Given the description of an element on the screen output the (x, y) to click on. 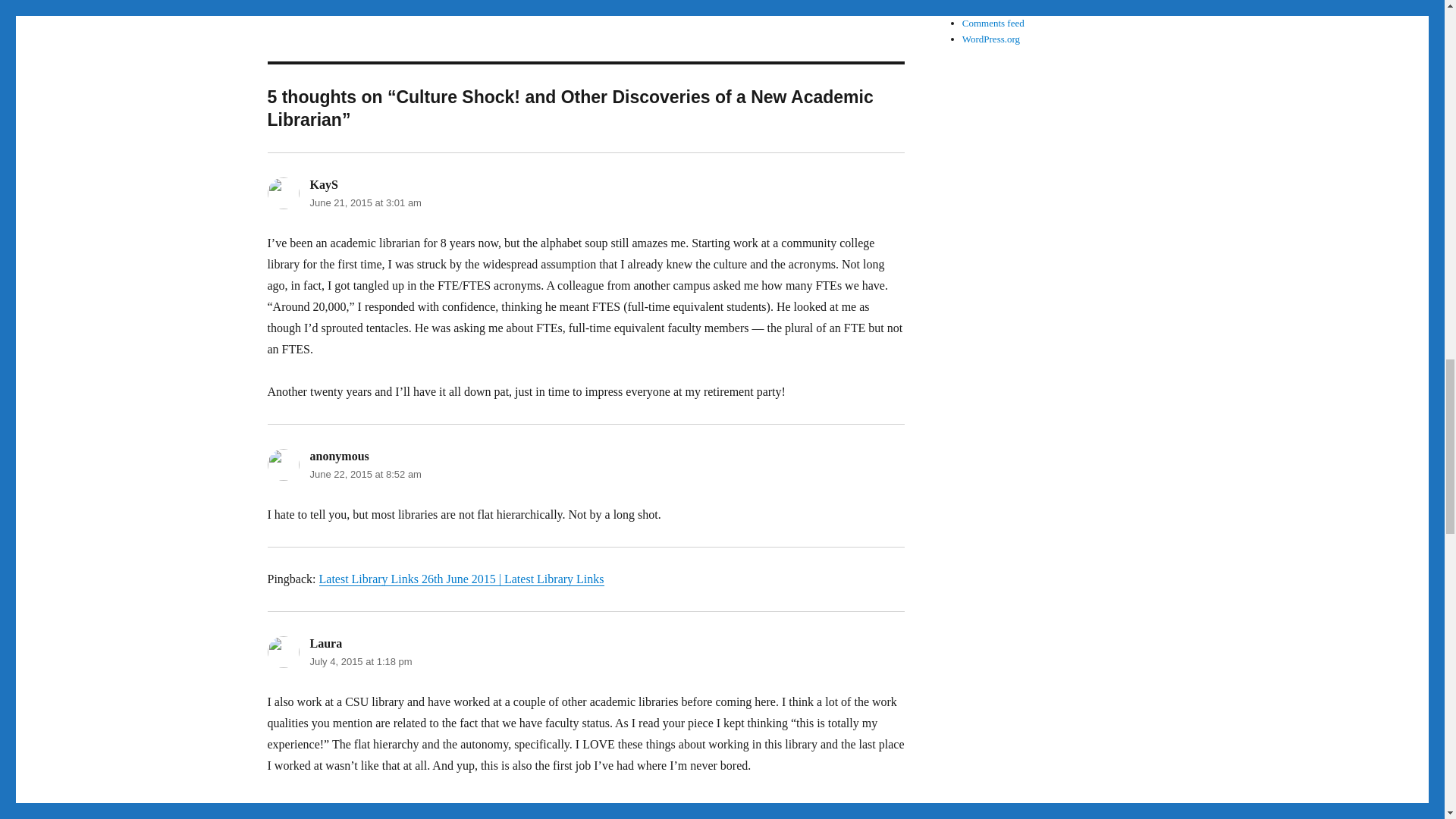
June 22, 2015 at 8:52 am (364, 473)
June 21, 2015 at 3:01 am (364, 202)
July 4, 2015 at 1:18 pm (360, 661)
